Given the description of an element on the screen output the (x, y) to click on. 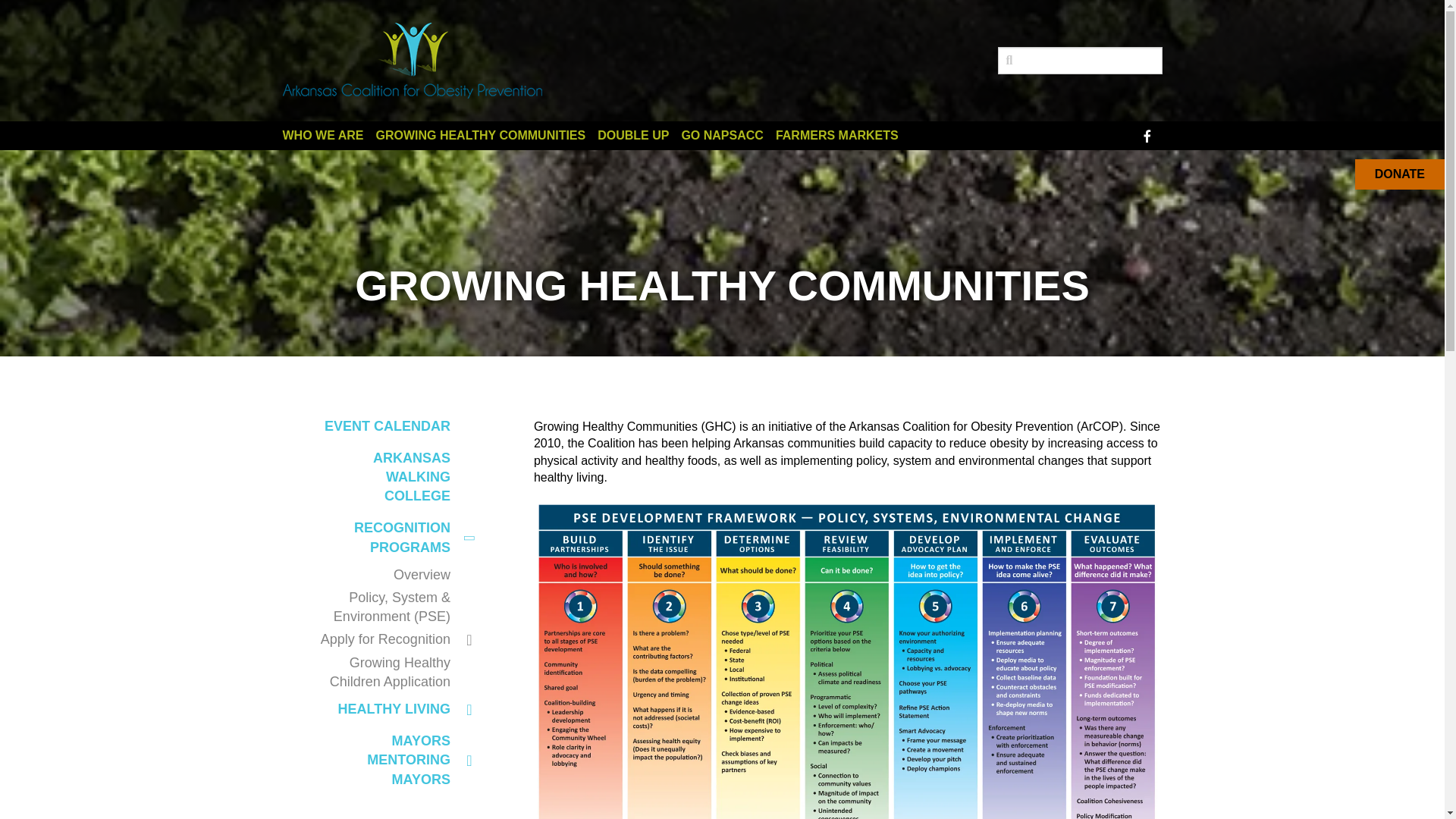
logo (411, 60)
